Given the description of an element on the screen output the (x, y) to click on. 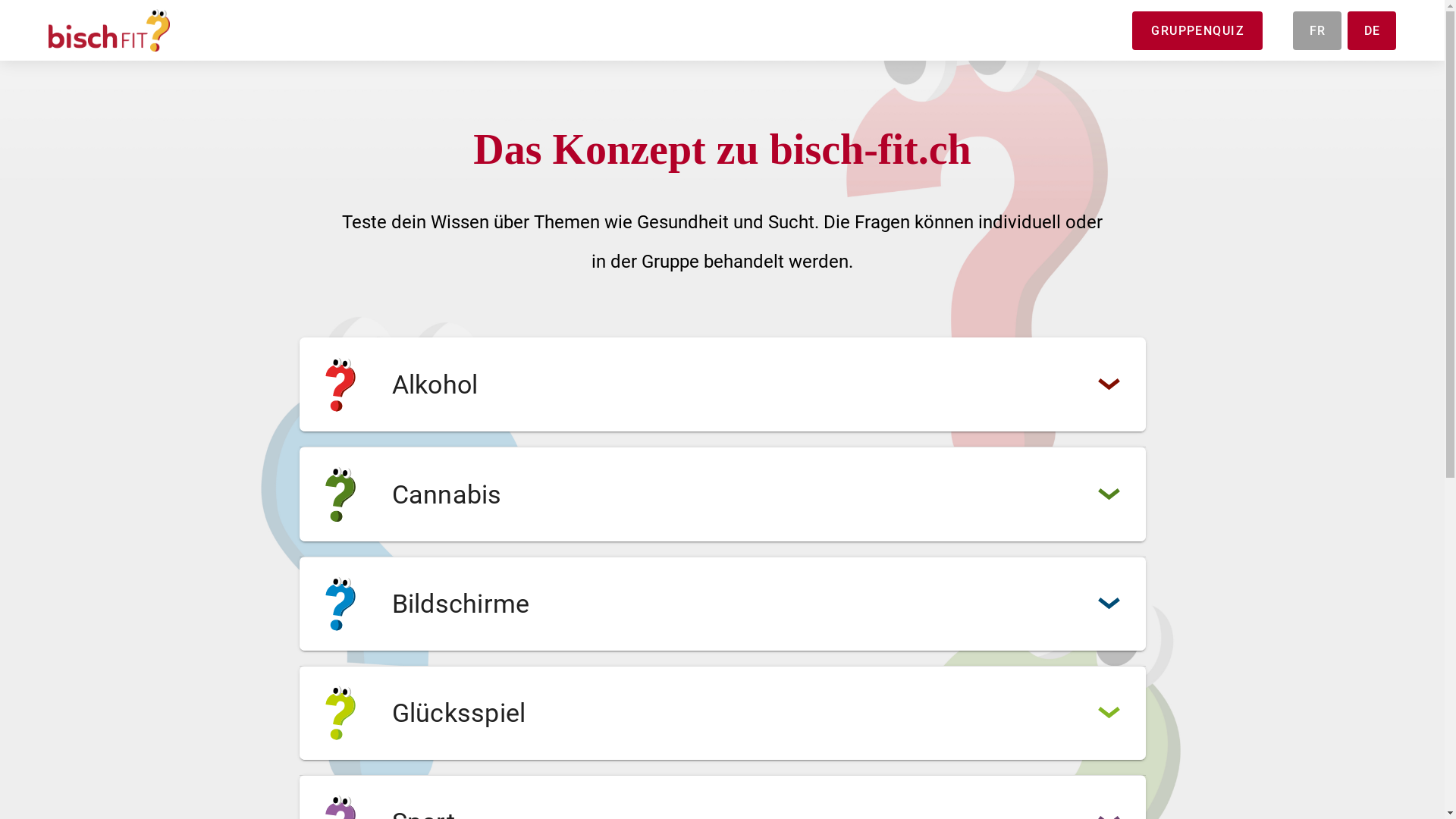
Bildschirme Element type: text (721, 603)
Cannabis Element type: text (721, 493)
GRUPPENQUIZ Element type: text (1197, 30)
FR Element type: text (1316, 30)
DE Element type: text (1371, 30)
Alkohol Element type: text (721, 384)
